Given the description of an element on the screen output the (x, y) to click on. 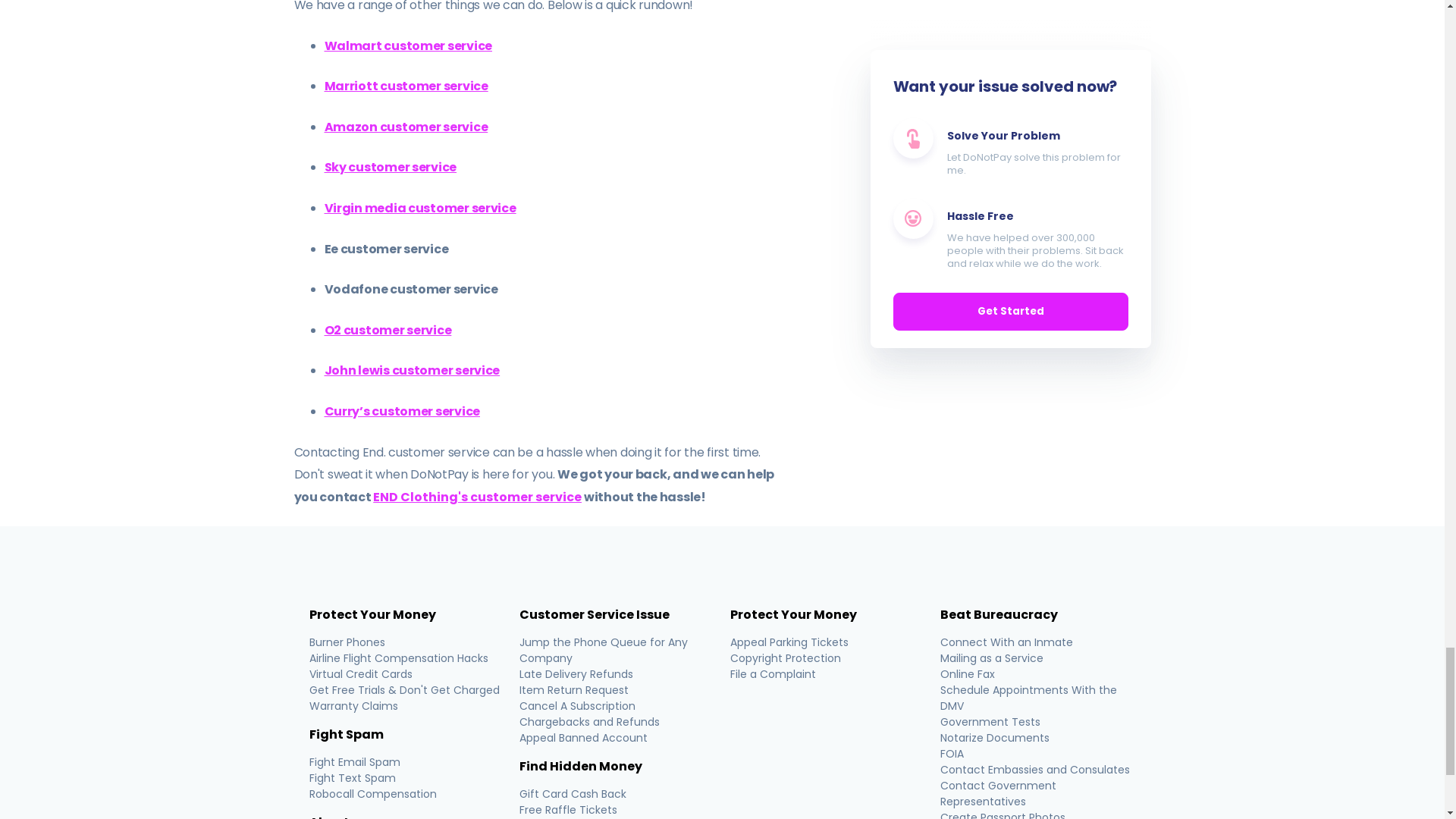
Walmart customer service (408, 45)
